Given the description of an element on the screen output the (x, y) to click on. 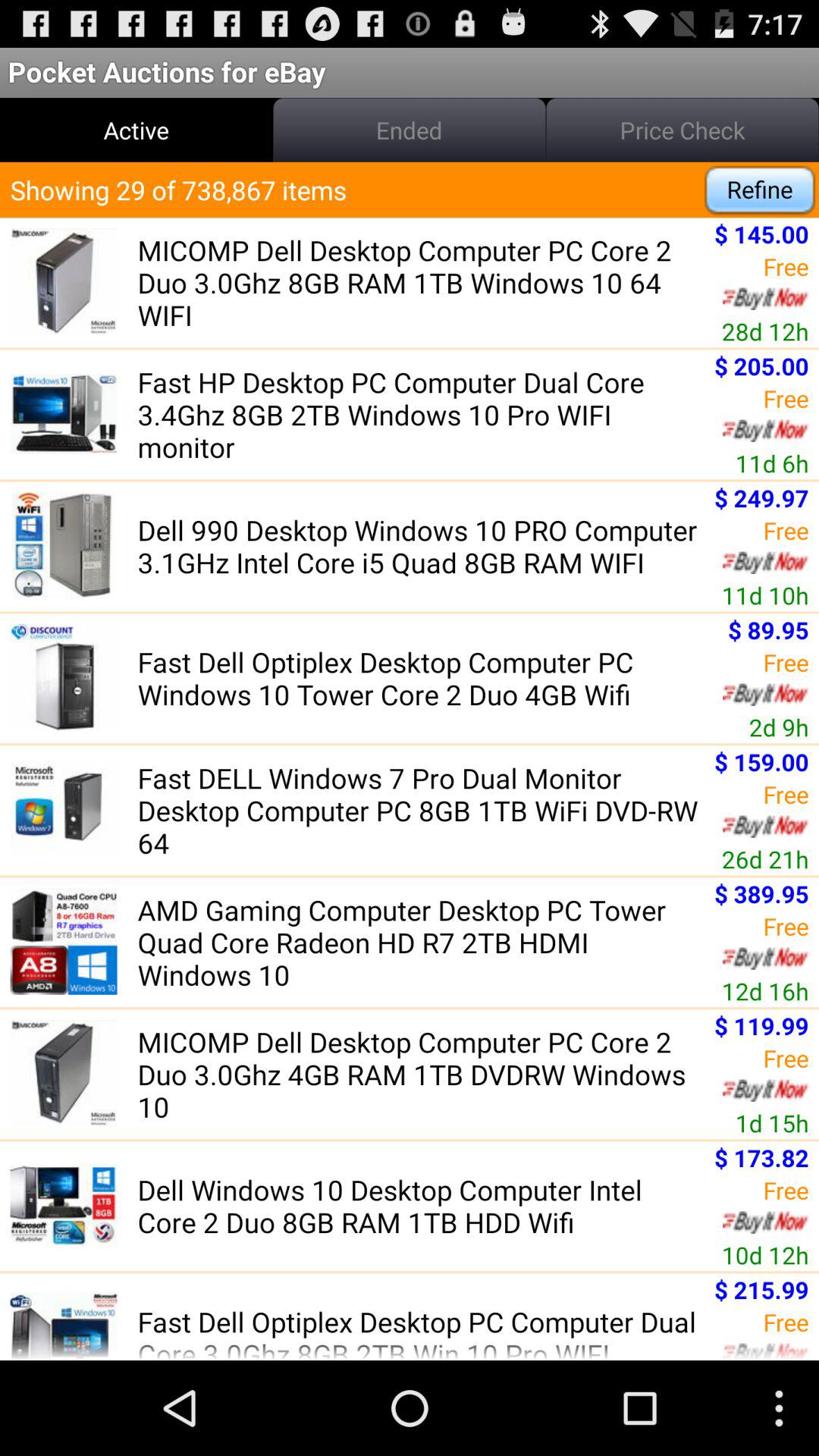
jump until the 28d 12h app (764, 331)
